Given the description of an element on the screen output the (x, y) to click on. 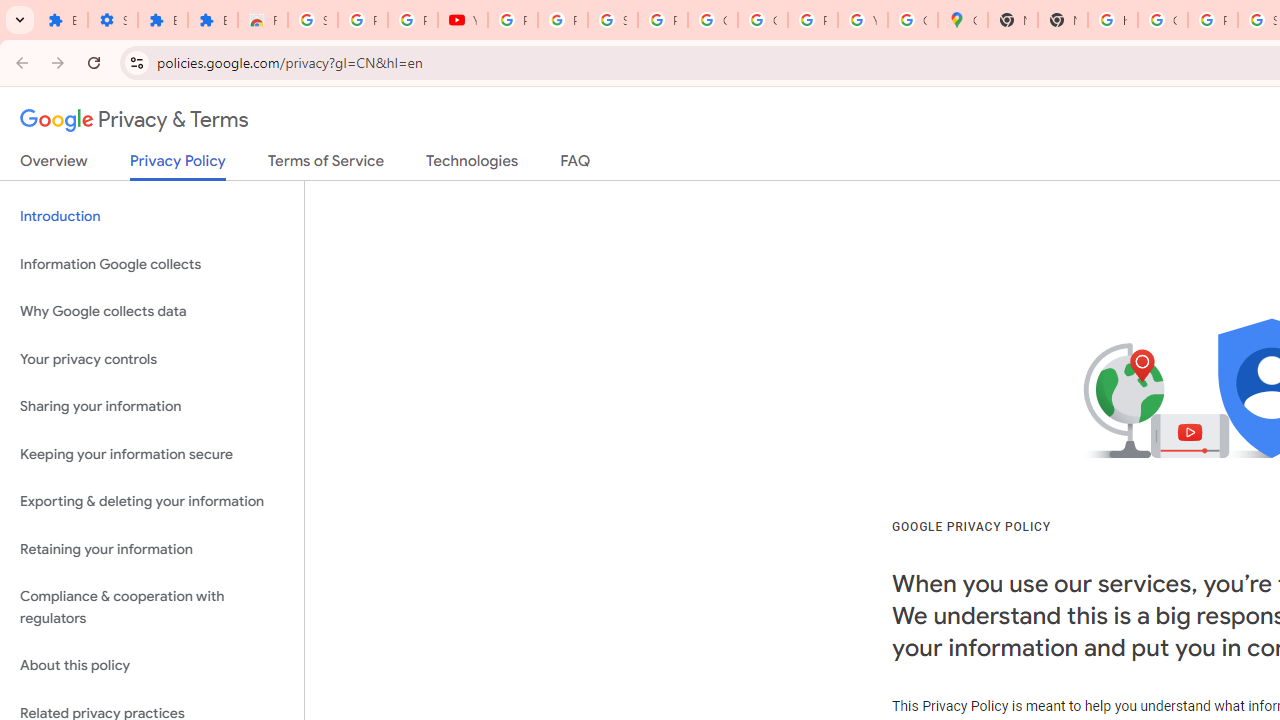
Extensions (62, 20)
https://scholar.google.com/ (1112, 20)
Reviews: Helix Fruit Jump Arcade Game (262, 20)
